Given the description of an element on the screen output the (x, y) to click on. 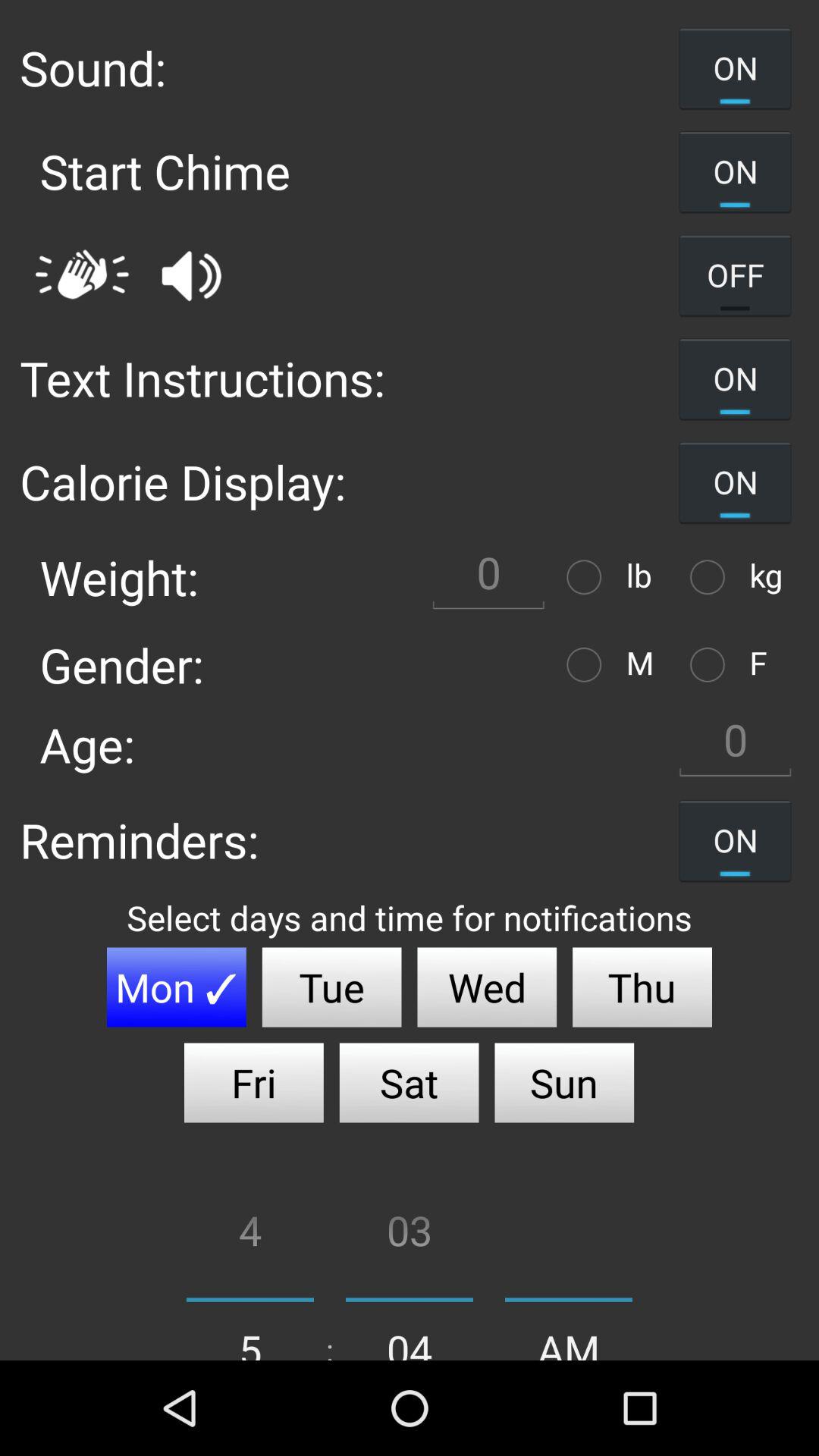
weight meter (587, 577)
